Given the description of an element on the screen output the (x, y) to click on. 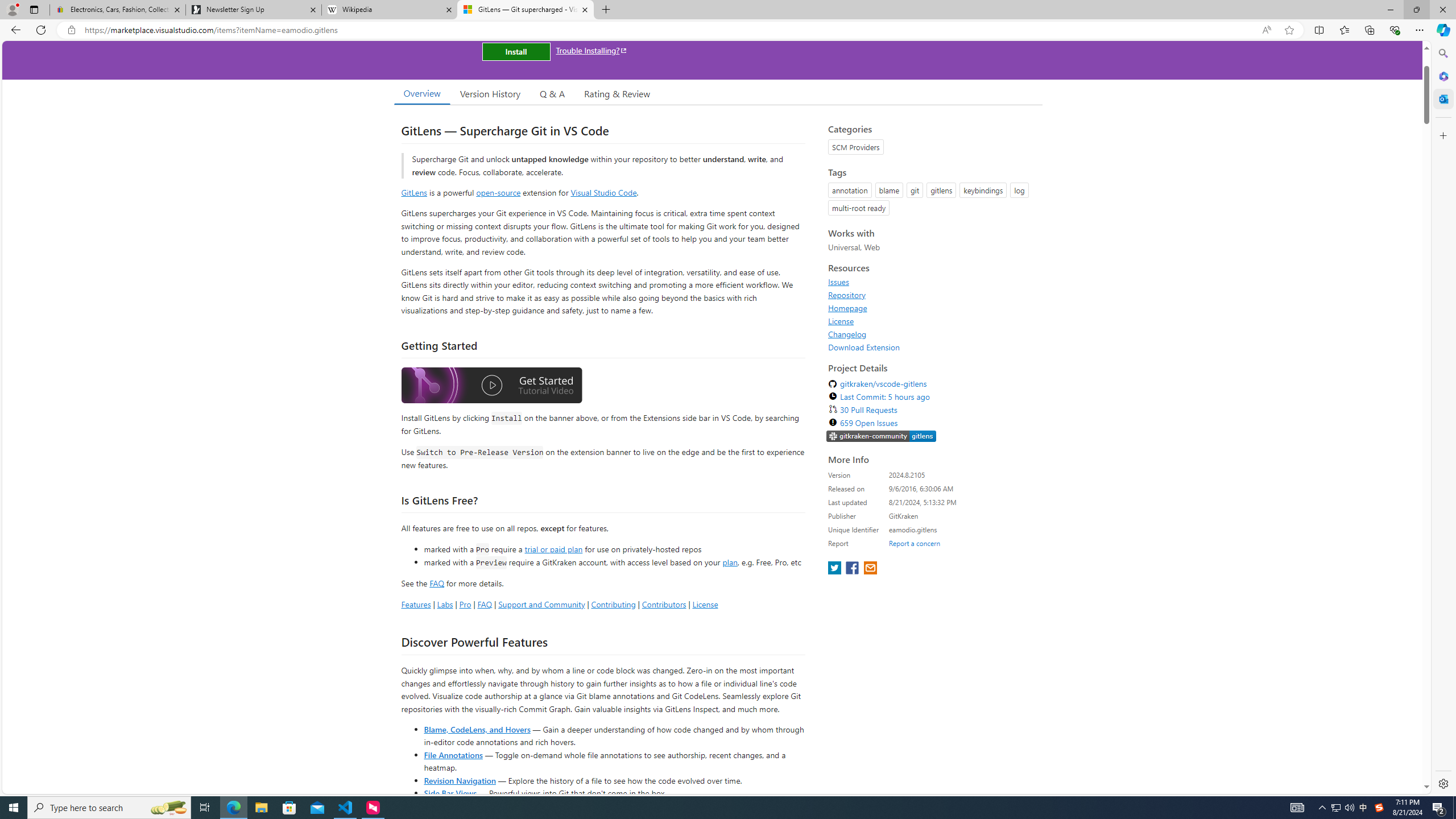
https://slack.gitkraken.com// (881, 436)
Q & A (552, 92)
Pro (464, 603)
File Annotations (453, 754)
License (931, 320)
open-source (498, 192)
Watch the GitLens Getting Started video (491, 387)
Support and Community (541, 603)
Repository (931, 294)
